Given the description of an element on the screen output the (x, y) to click on. 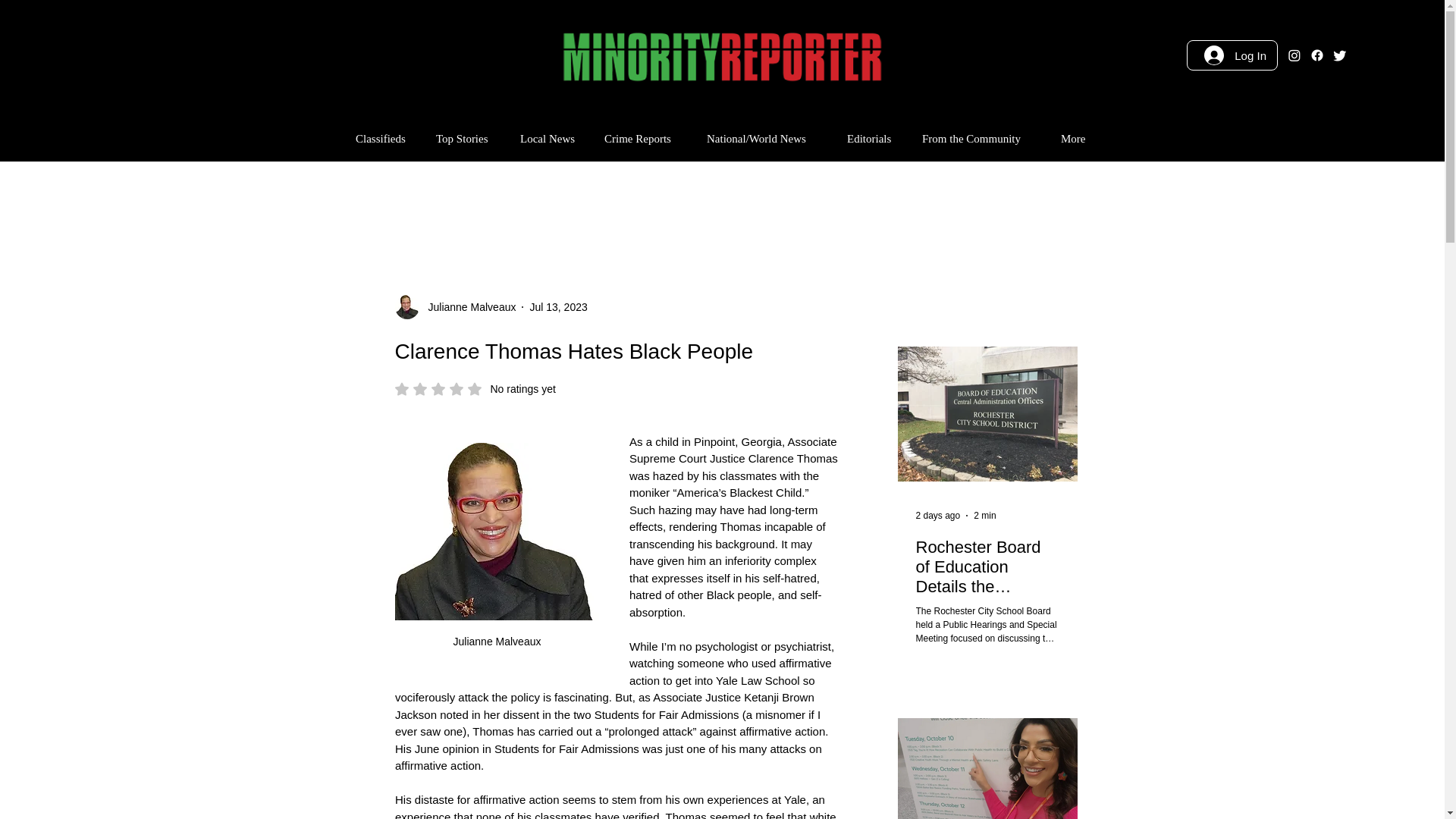
2 min (984, 515)
From the Community (980, 138)
2 days ago (937, 515)
Classifieds (384, 138)
Editorials (474, 388)
Log In (873, 138)
Julianne Malveaux (1234, 54)
Jul 13, 2023 (467, 306)
Crime Reports (557, 306)
Local News (643, 138)
Julianne Malveaux (550, 138)
Top Stories (454, 306)
